Given the description of an element on the screen output the (x, y) to click on. 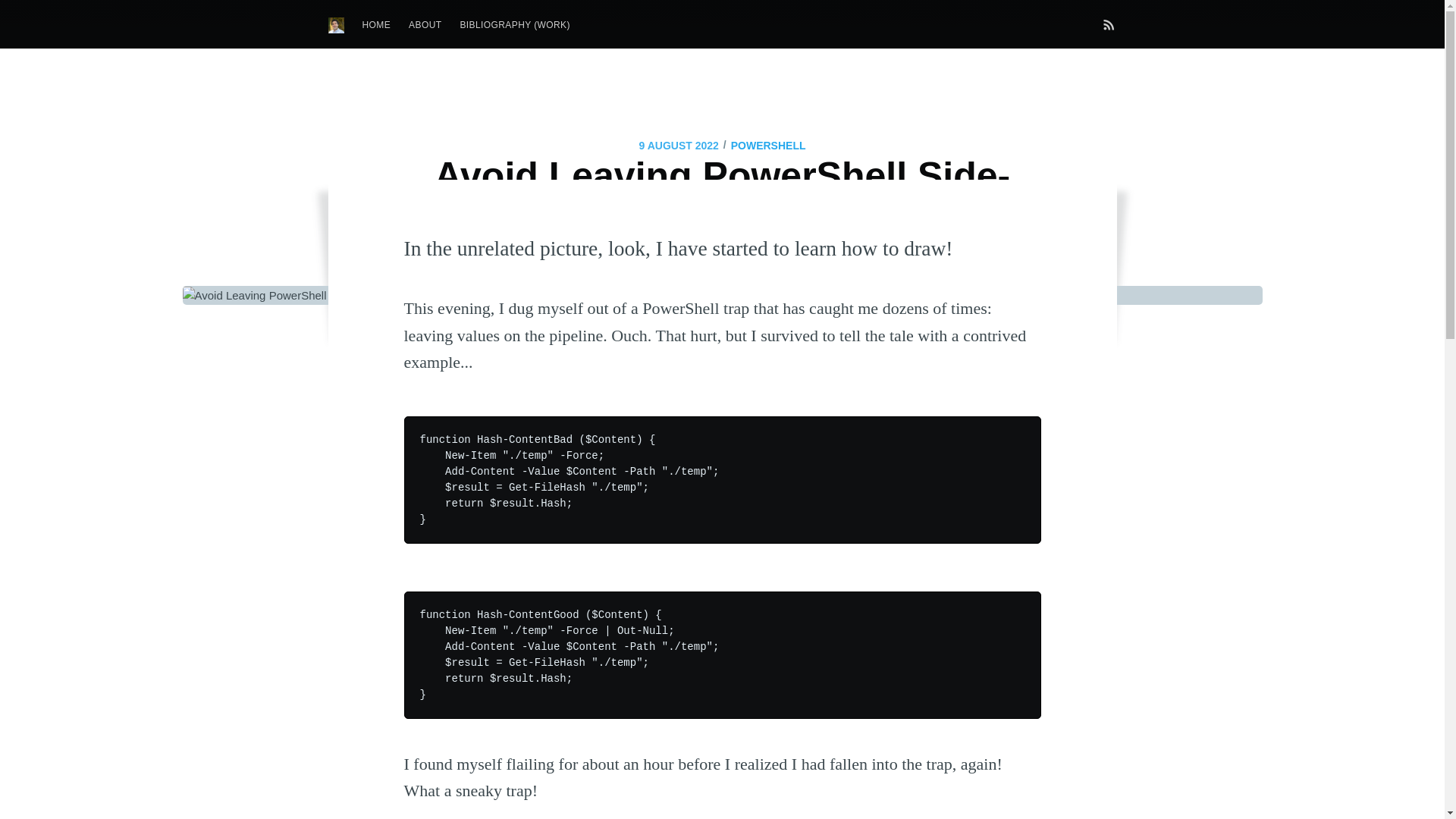
HOME Element type: text (376, 25)
RSS Element type: hover (1109, 24)
POWERSHELL Element type: text (768, 145)
ABOUT Element type: text (424, 25)
BIBLIOGRAPHY (WORK) Element type: text (514, 25)
